Given the description of an element on the screen output the (x, y) to click on. 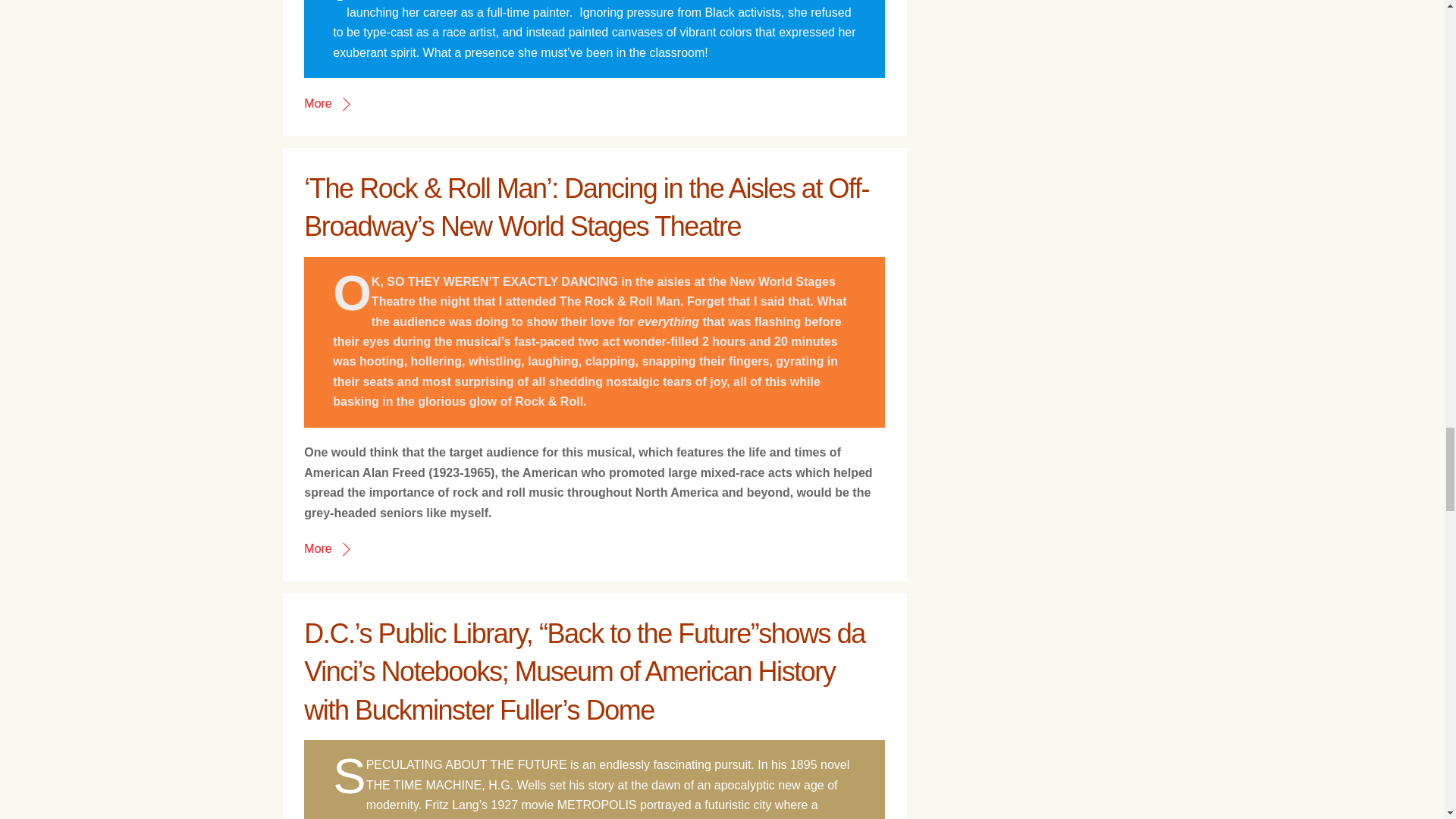
More (325, 548)
More (325, 103)
